Given the description of an element on the screen output the (x, y) to click on. 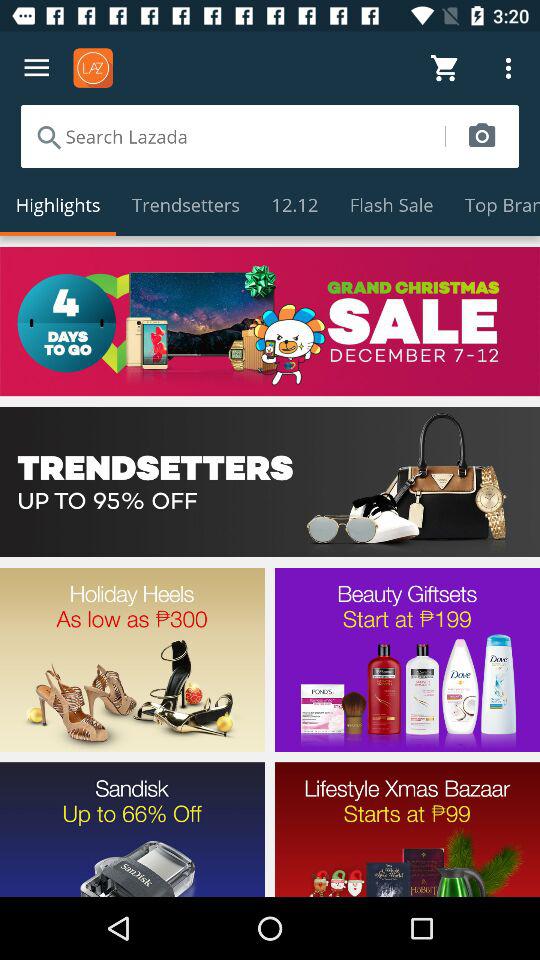
search function (232, 136)
